Given the description of an element on the screen output the (x, y) to click on. 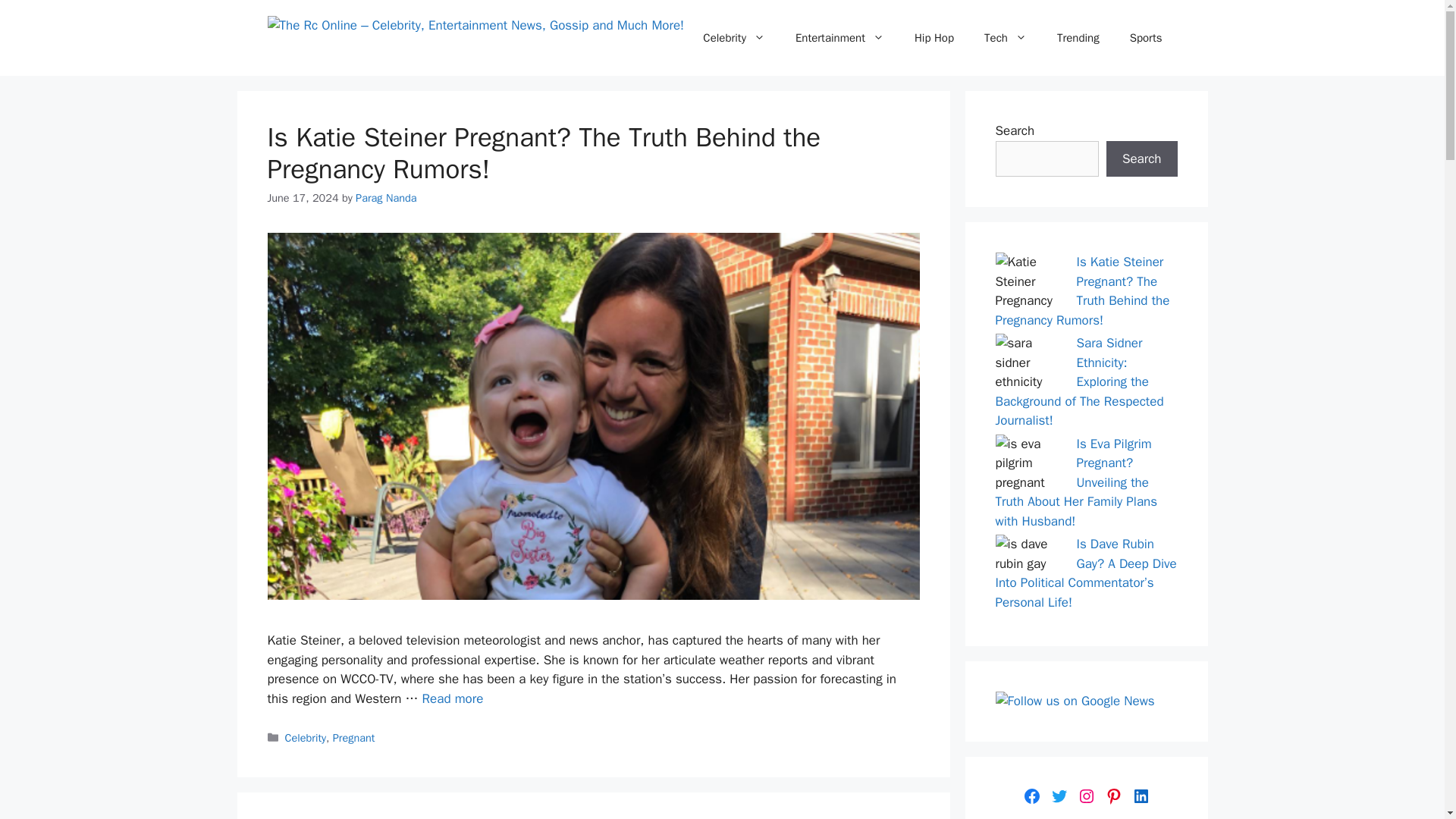
Read more (452, 698)
Sports (1146, 37)
View all posts by Parag Nanda (385, 197)
Celebrity (733, 37)
Trending (1078, 37)
Pregnant (354, 737)
Hip Hop (934, 37)
Parag Nanda (385, 197)
Entertainment (839, 37)
Celebrity (305, 737)
Tech (1005, 37)
